Given the description of an element on the screen output the (x, y) to click on. 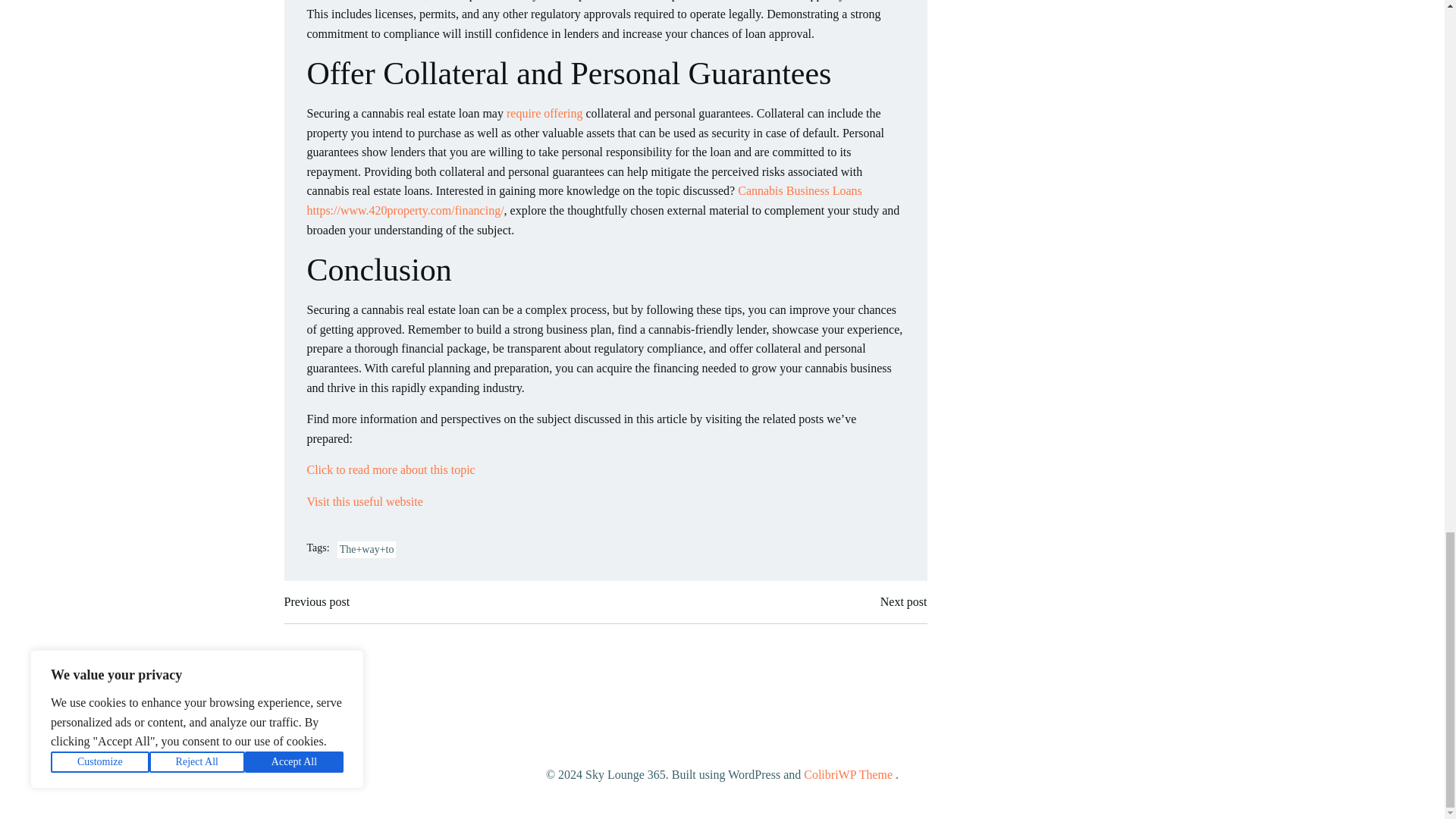
Previous post (316, 601)
require offering (544, 113)
Next post (903, 601)
Click to read more about this topic (389, 469)
Visit this useful website (363, 501)
